Given the description of an element on the screen output the (x, y) to click on. 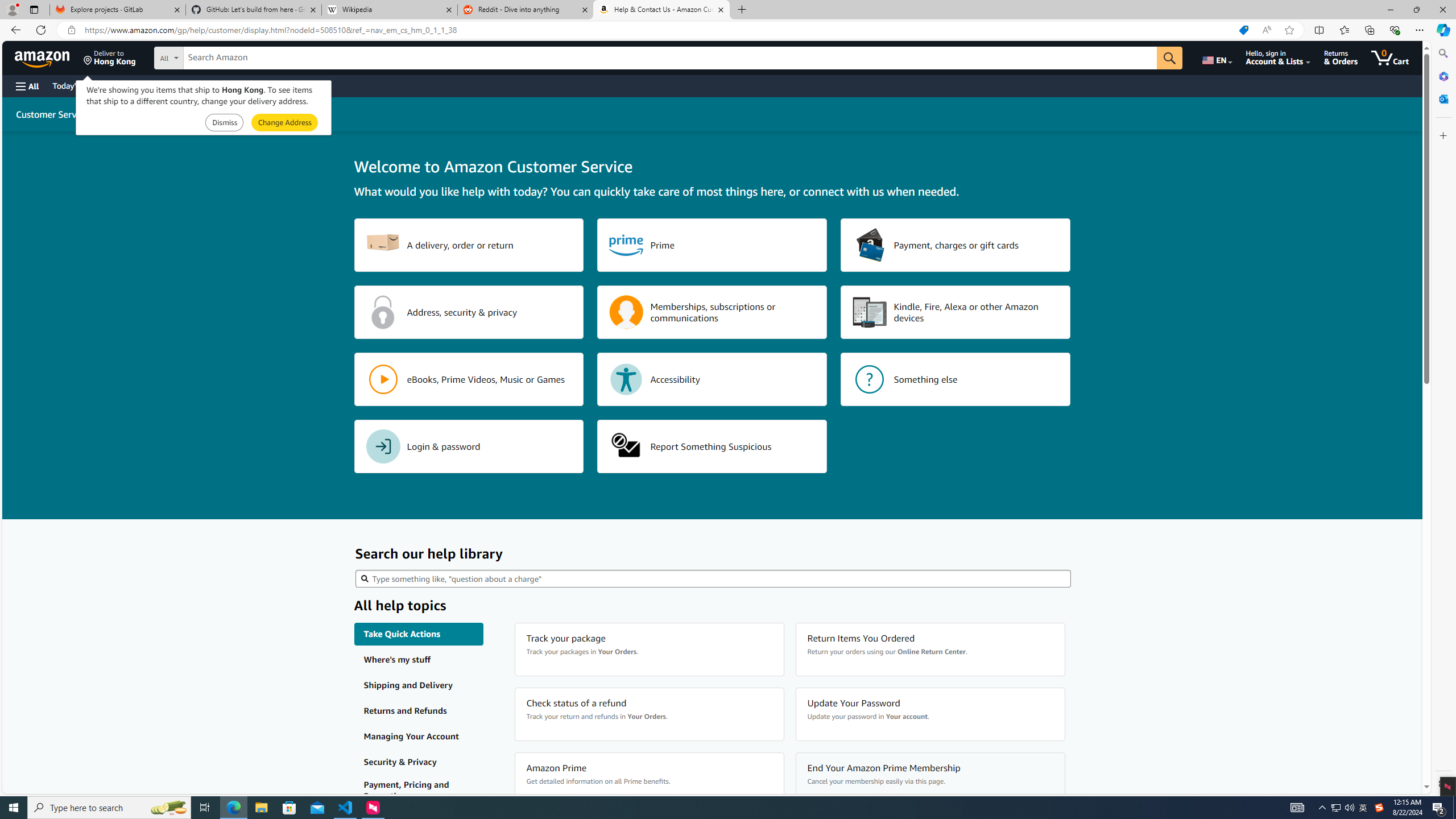
Hello, sign in Account & Lists (1278, 57)
0 items in cart (1389, 57)
Search our help library (713, 578)
Returns & Orders (1340, 57)
Track your package Track your packages in Your Orders. (648, 649)
Search in (210, 56)
eBooks, Prime Videos, Music or Games (468, 379)
Login & password (468, 446)
